Given the description of an element on the screen output the (x, y) to click on. 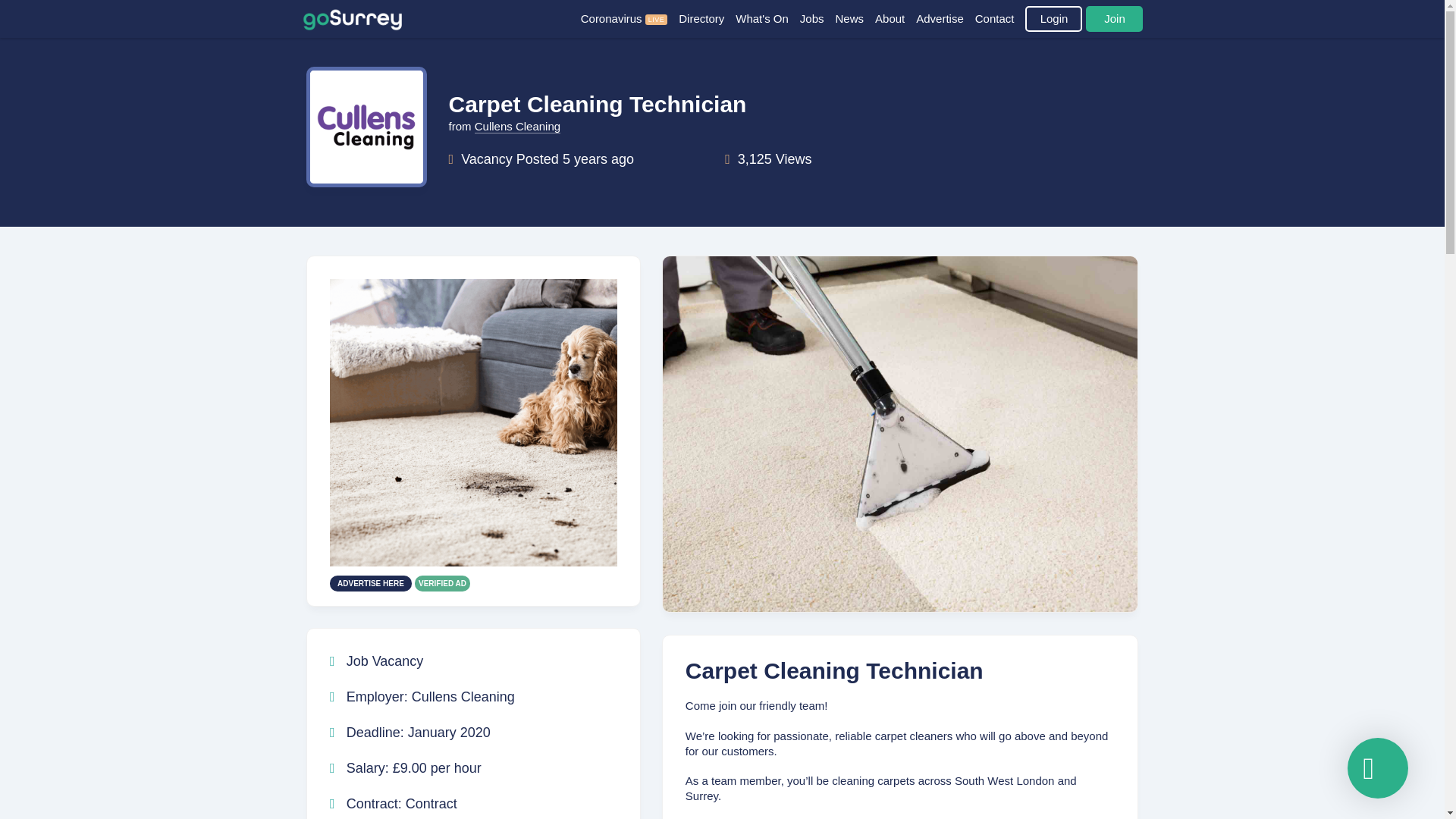
ADVERTISE HERE VERIFIED AD (473, 649)
Cullens Cleaning (463, 696)
Surrey Business Directory (706, 18)
Join (1114, 18)
Jobs (817, 18)
Cullens Cleaning (463, 696)
Cullens Cleaning (517, 126)
About (895, 18)
Coronavirus LIVE (629, 18)
About Go Surrey (895, 18)
